Given the description of an element on the screen output the (x, y) to click on. 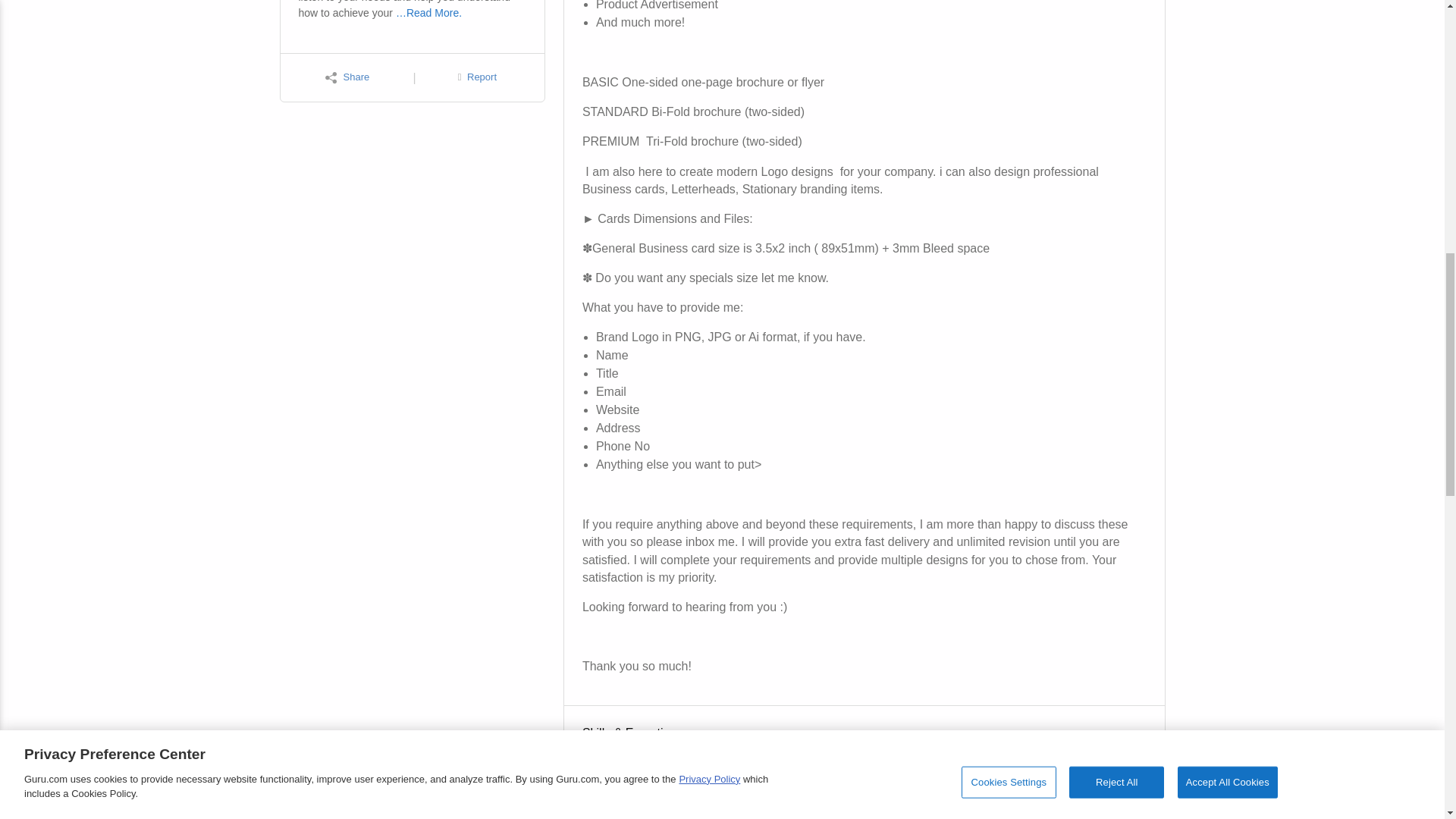
Report (477, 77)
Share (347, 77)
